Given the description of an element on the screen output the (x, y) to click on. 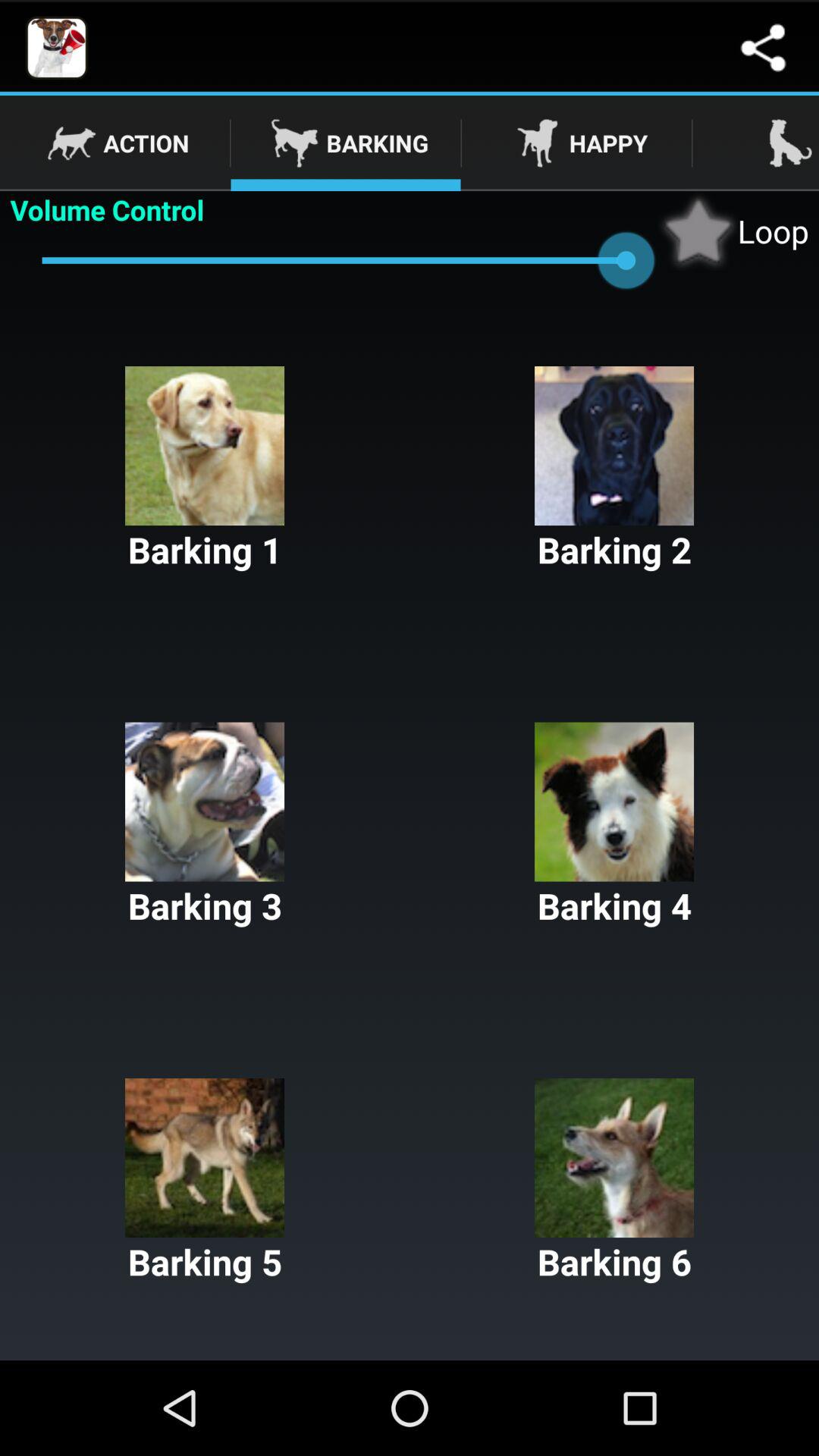
jump to barking 6 (614, 1181)
